Given the description of an element on the screen output the (x, y) to click on. 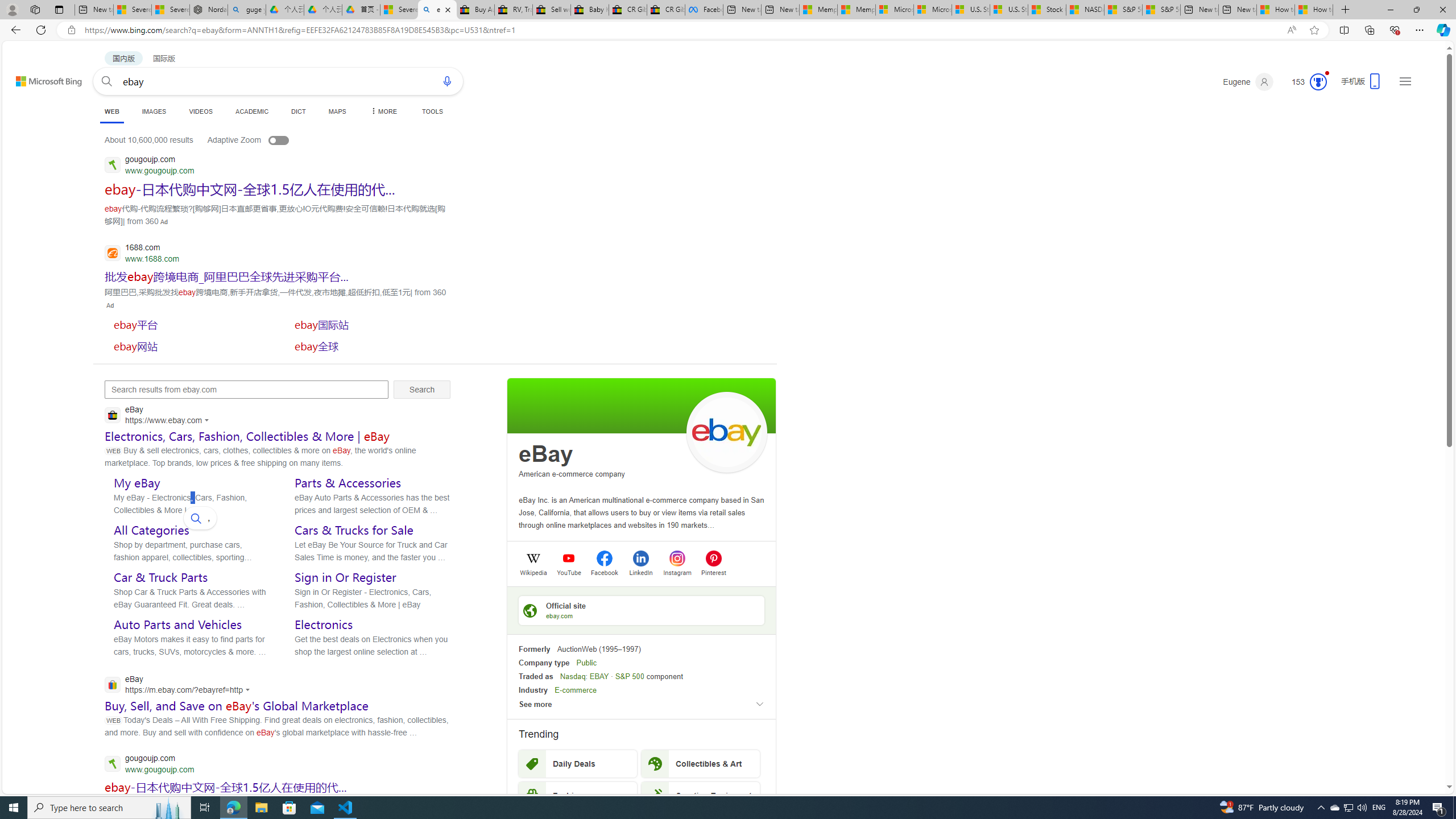
Fashion (577, 795)
DICT (298, 111)
AutomationID: mfa_root (1406, 752)
See more images of eBay (726, 431)
Global web icon (111, 684)
LinkedIn (640, 571)
Search button (106, 80)
Class: sp-ofsite (529, 610)
WEB (111, 112)
